Given the description of an element on the screen output the (x, y) to click on. 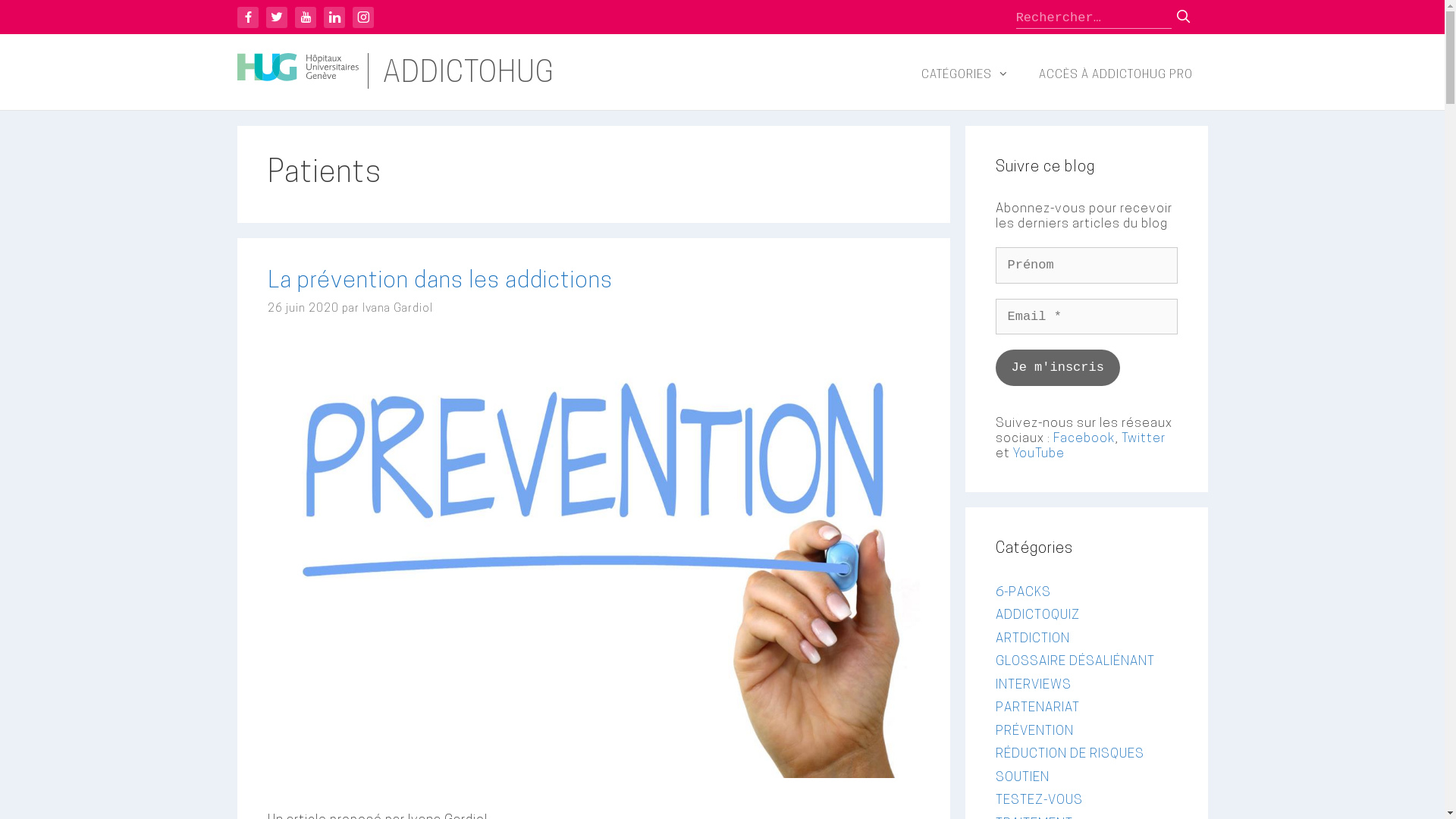
Twitter Element type: text (1142, 438)
ADDICTOQUIZ Element type: text (1036, 614)
Email Element type: hover (1085, 316)
Facebook Element type: text (246, 17)
LinkedIn Element type: text (333, 17)
ARTDICTION Element type: text (1031, 638)
Ivana Gardiol Element type: text (397, 308)
TESTEZ-VOUS Element type: text (1038, 799)
YouTube Element type: text (1038, 453)
INTERVIEWS Element type: text (1032, 683)
6-PACKS Element type: text (1022, 591)
Instagram Element type: text (362, 17)
Facebook Element type: text (1082, 438)
SOUTIEN Element type: text (1021, 776)
Je m'inscris Element type: text (1056, 367)
YouTube Element type: text (304, 17)
ADDICTOHUG Element type: text (467, 74)
Twitter Element type: text (275, 17)
PARTENARIAT Element type: text (1036, 707)
